Given the description of an element on the screen output the (x, y) to click on. 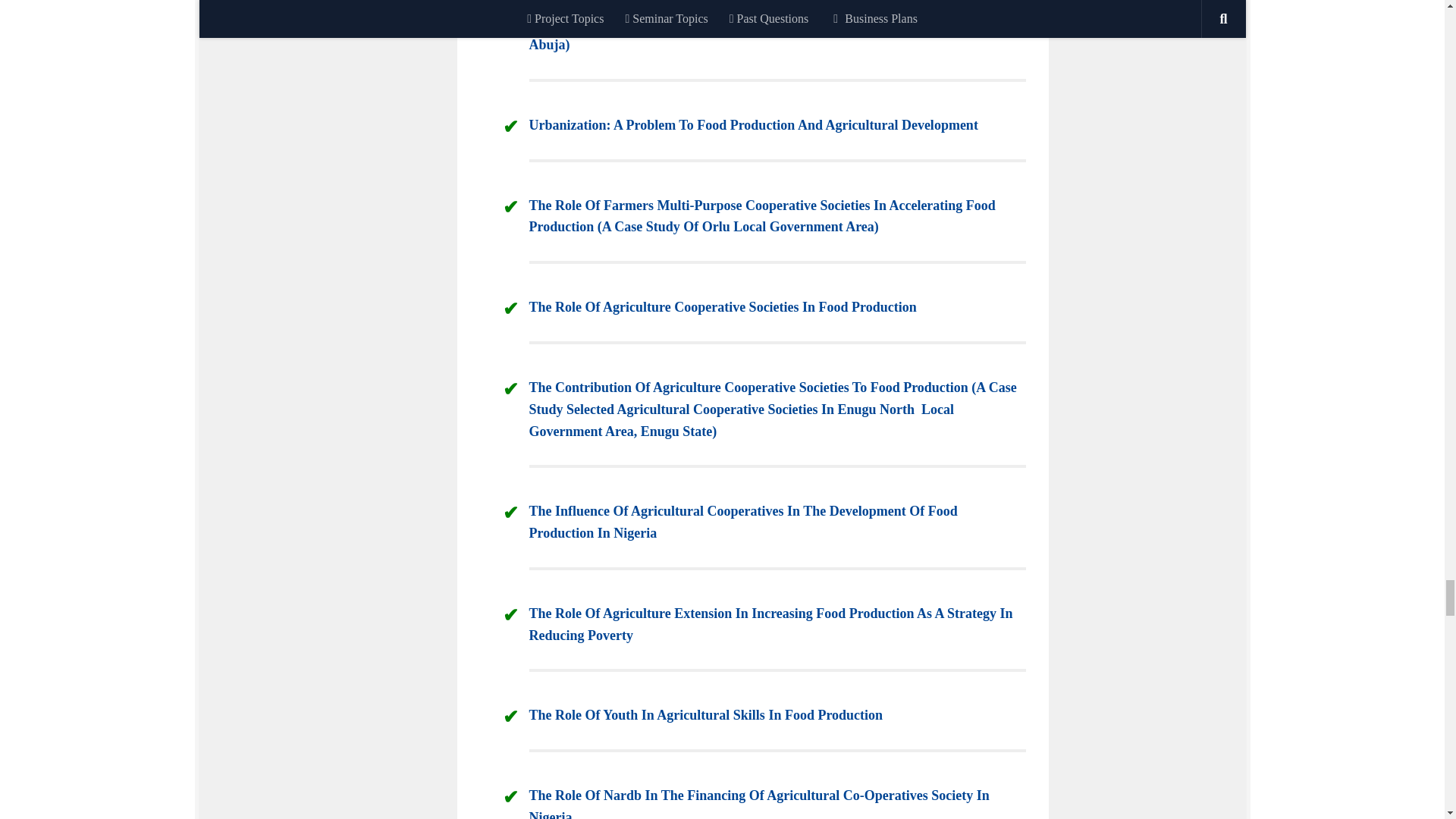
The Role Of Youth In Agricultural Skills In Food Production (706, 714)
